Given the description of an element on the screen output the (x, y) to click on. 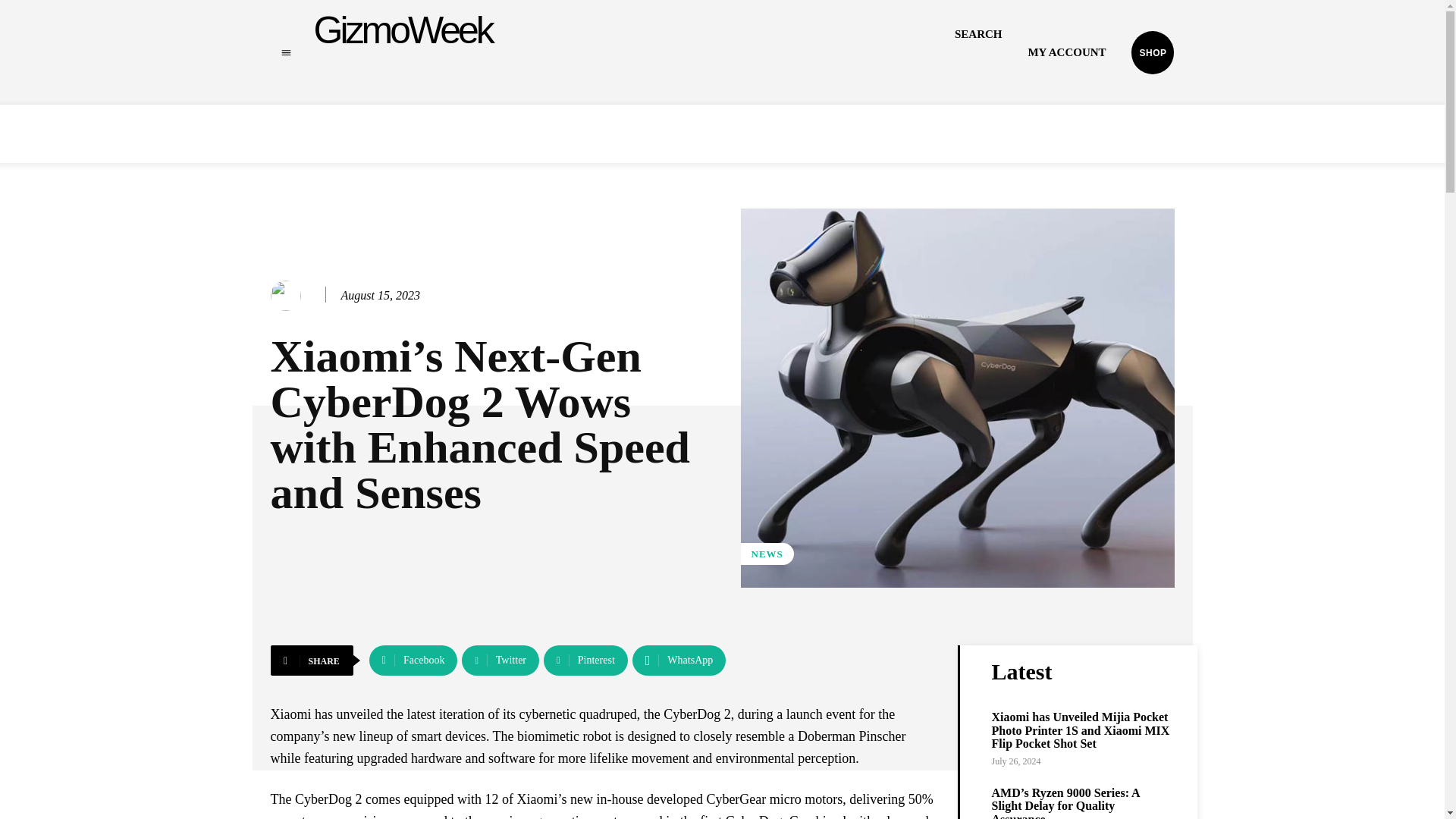
Pinterest (585, 660)
WhatsApp (678, 660)
Twitter (499, 660)
Facebook (413, 660)
